Given the description of an element on the screen output the (x, y) to click on. 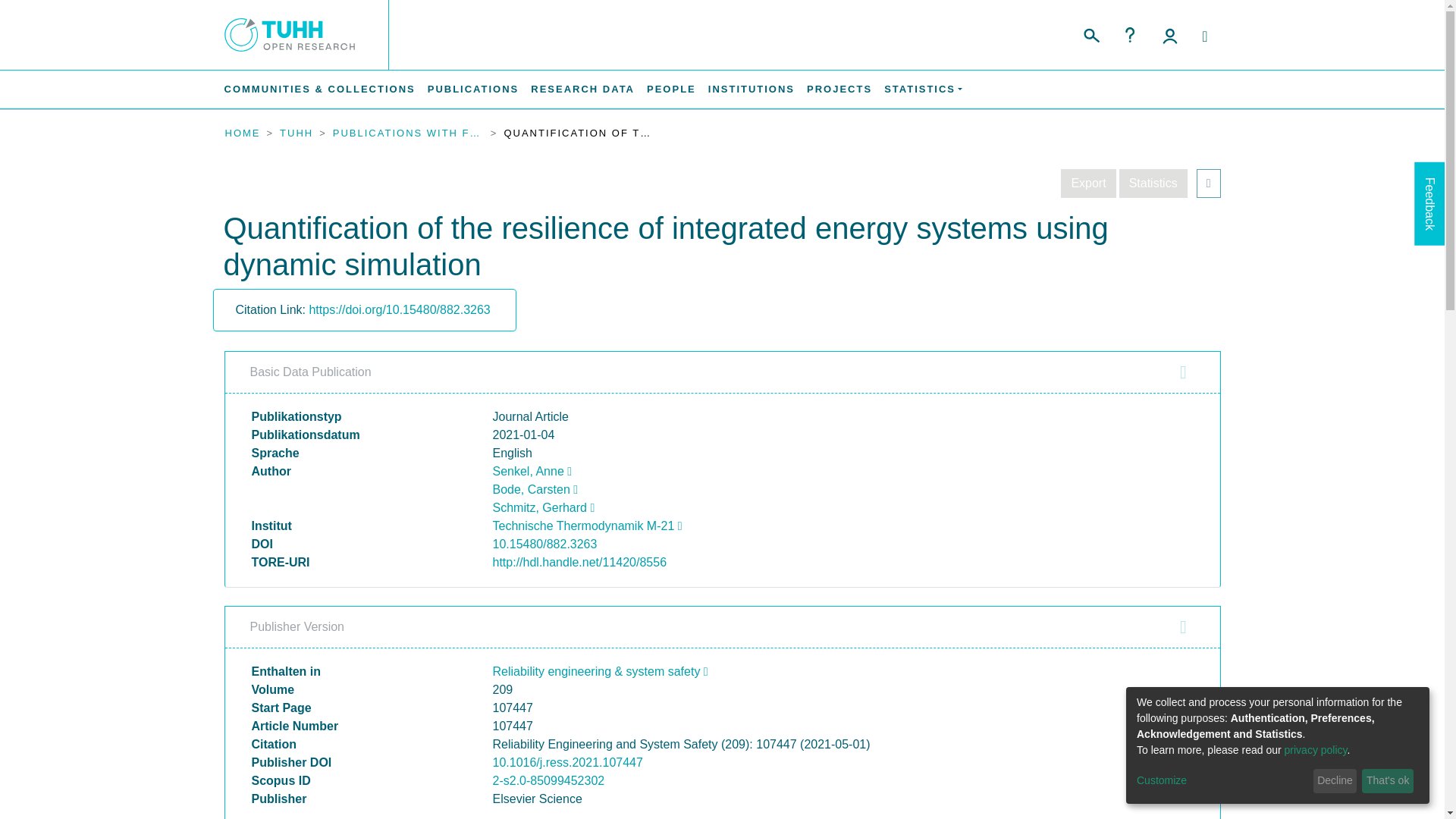
Export (1088, 183)
Senkel, Anne  (532, 471)
People (670, 89)
Publications (473, 89)
INSTITUTIONS (750, 89)
Search (1090, 33)
HOME (242, 133)
Language switch (1204, 36)
PROJECTS (838, 89)
PUBLICATIONS (473, 89)
Help (1129, 34)
PEOPLE (670, 89)
Basic Data Publication (722, 371)
RESEARCH DATA (582, 89)
Statistics (1153, 183)
